Given the description of an element on the screen output the (x, y) to click on. 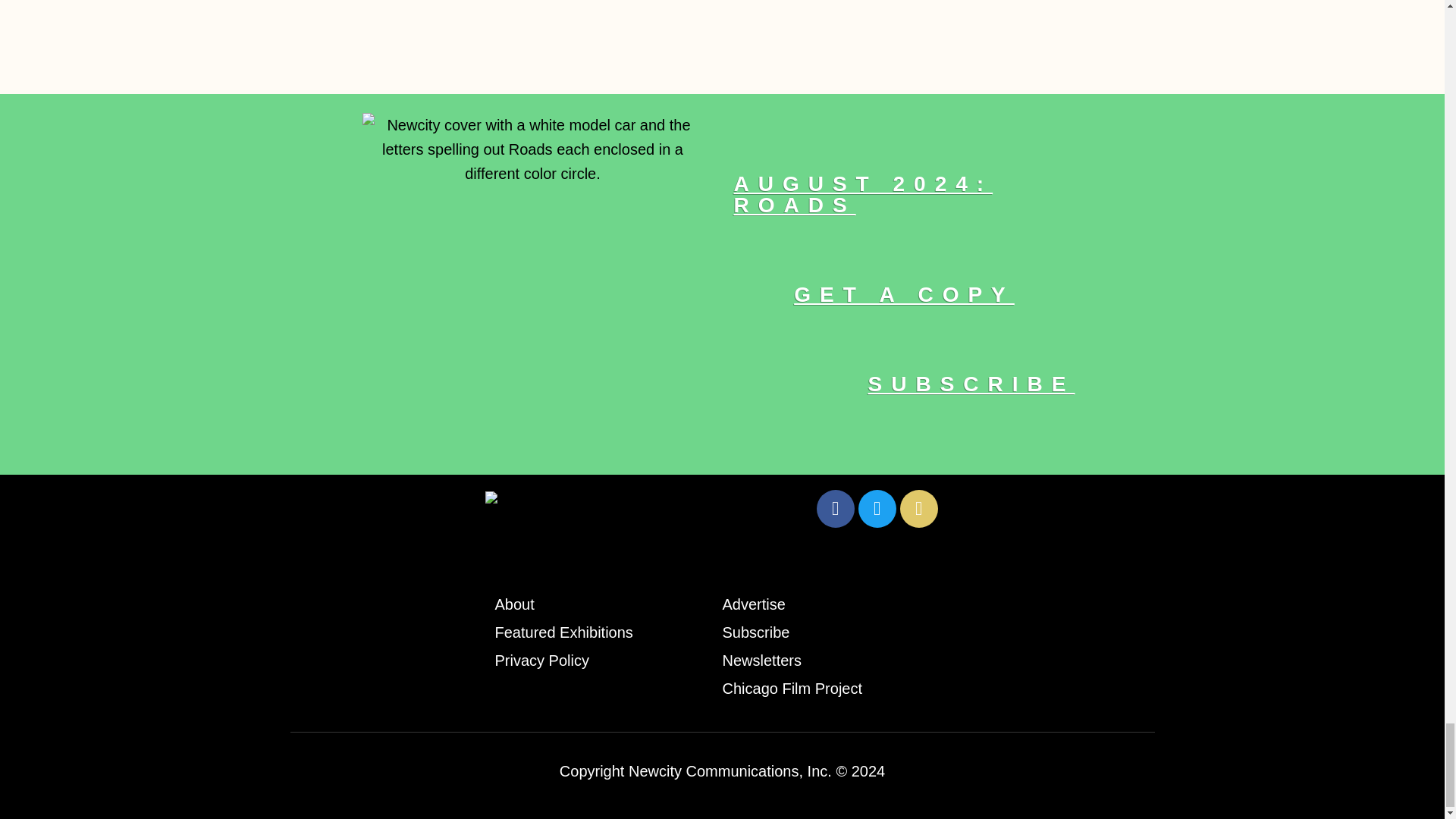
NewcityLogo.png (548, 503)
